Given the description of an element on the screen output the (x, y) to click on. 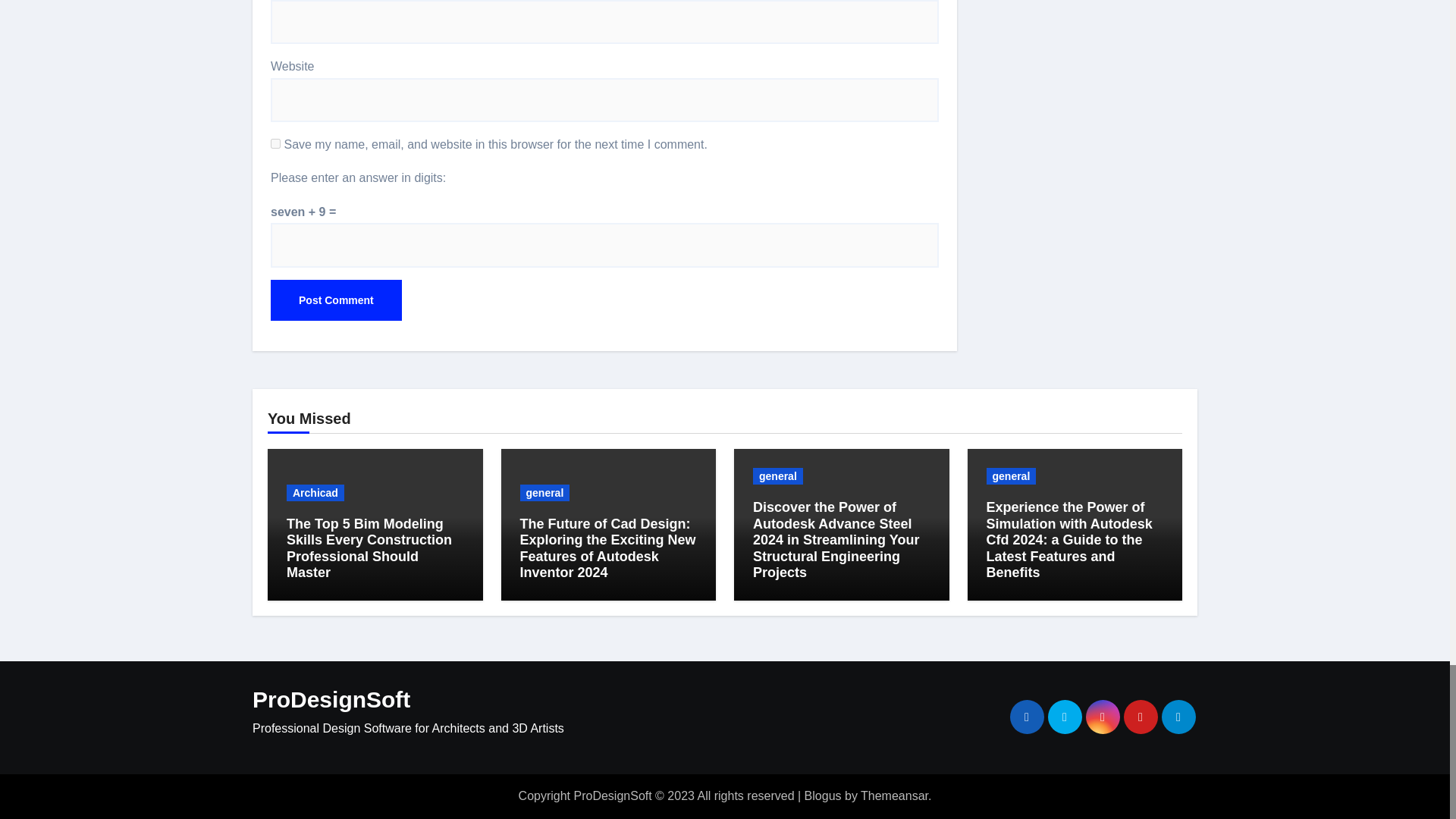
yes (275, 143)
Post Comment (335, 300)
